Given the description of an element on the screen output the (x, y) to click on. 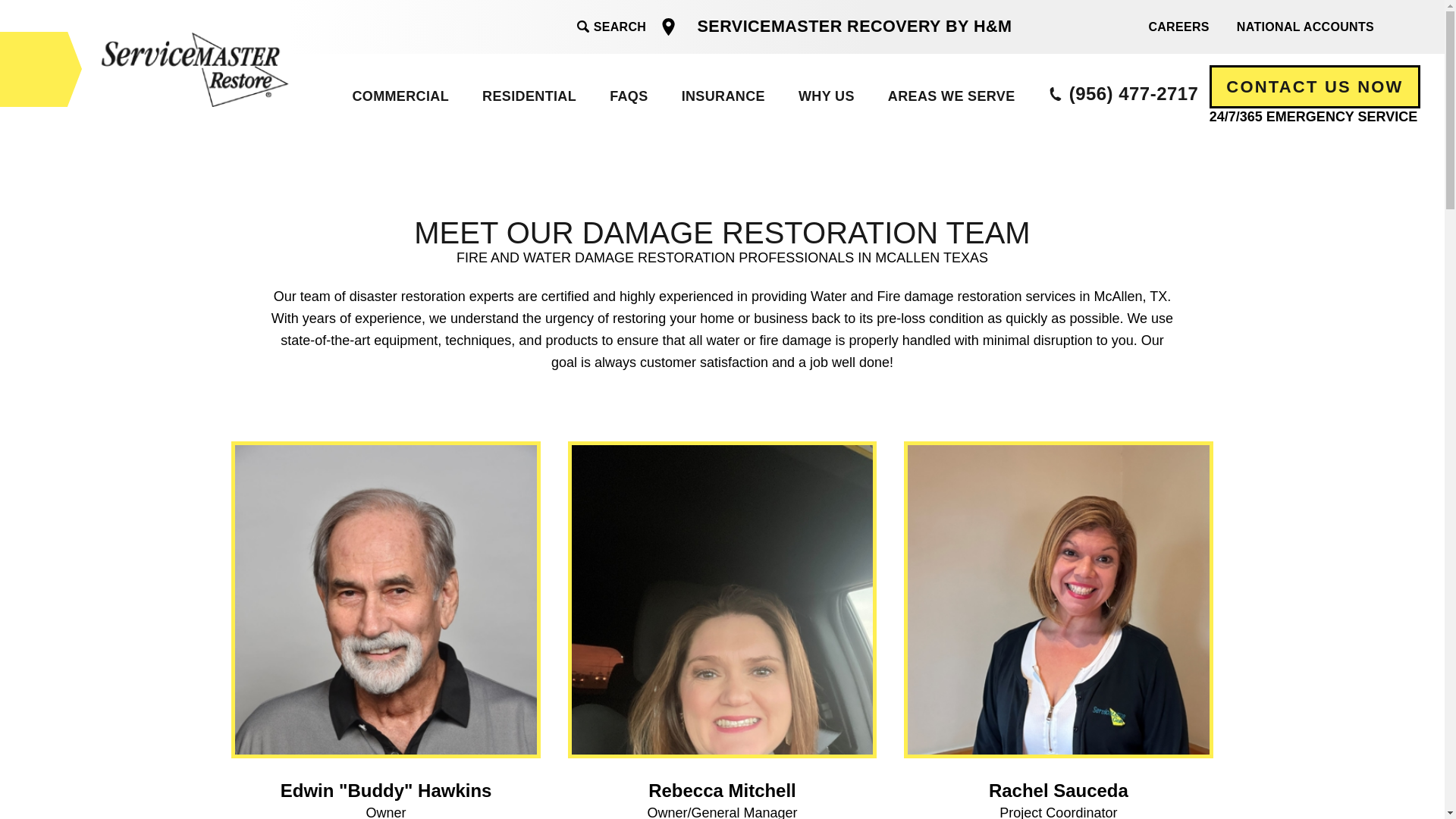
NATIONAL ACCOUNTS (1305, 26)
CAREERS (1178, 26)
INSURANCE (721, 96)
RESIDENTIAL (528, 96)
FAQS (627, 96)
SEARCH (611, 26)
COMMERCIAL (399, 96)
WHY US (825, 96)
